Given the description of an element on the screen output the (x, y) to click on. 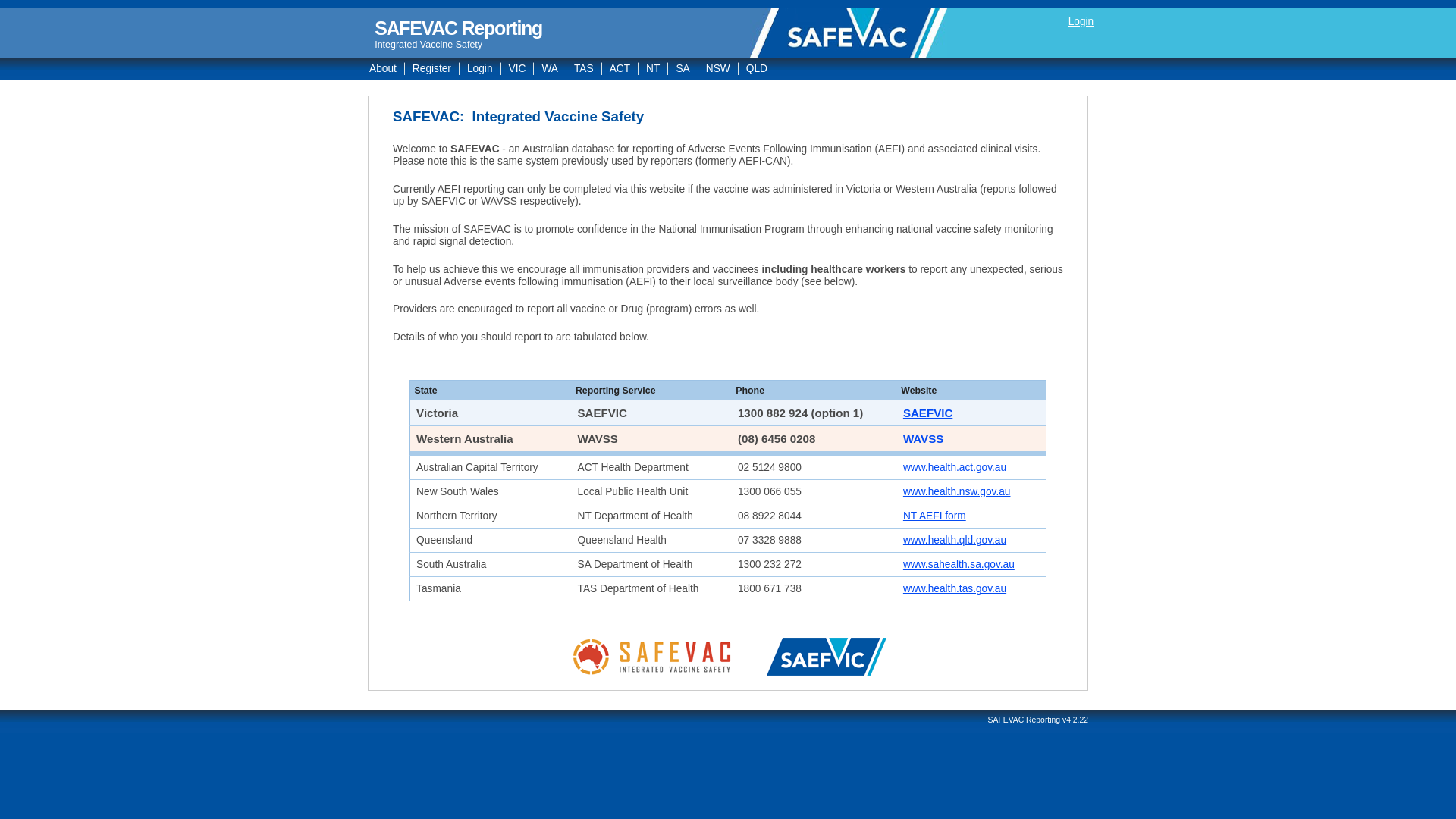
NT AEFI form Element type: text (934, 515)
QLD Element type: text (756, 68)
About Element type: text (382, 68)
SA Element type: text (682, 68)
Login Element type: text (1081, 21)
www.health.qld.gov.au Element type: text (954, 540)
www.sahealth.sa.gov.au Element type: text (958, 564)
Login Element type: text (480, 68)
www.health.act.gov.au Element type: text (954, 467)
NT Element type: text (653, 68)
VIC Element type: text (517, 68)
NSW Element type: text (718, 68)
WAVSS Element type: text (923, 438)
ACT Element type: text (620, 68)
TAS Element type: text (584, 68)
WA Element type: text (549, 68)
www.health.nsw.gov.au Element type: text (956, 491)
Register Element type: text (431, 68)
www.health.tas.gov.au Element type: text (954, 588)
SAEFVIC Element type: text (927, 412)
